Given the description of an element on the screen output the (x, y) to click on. 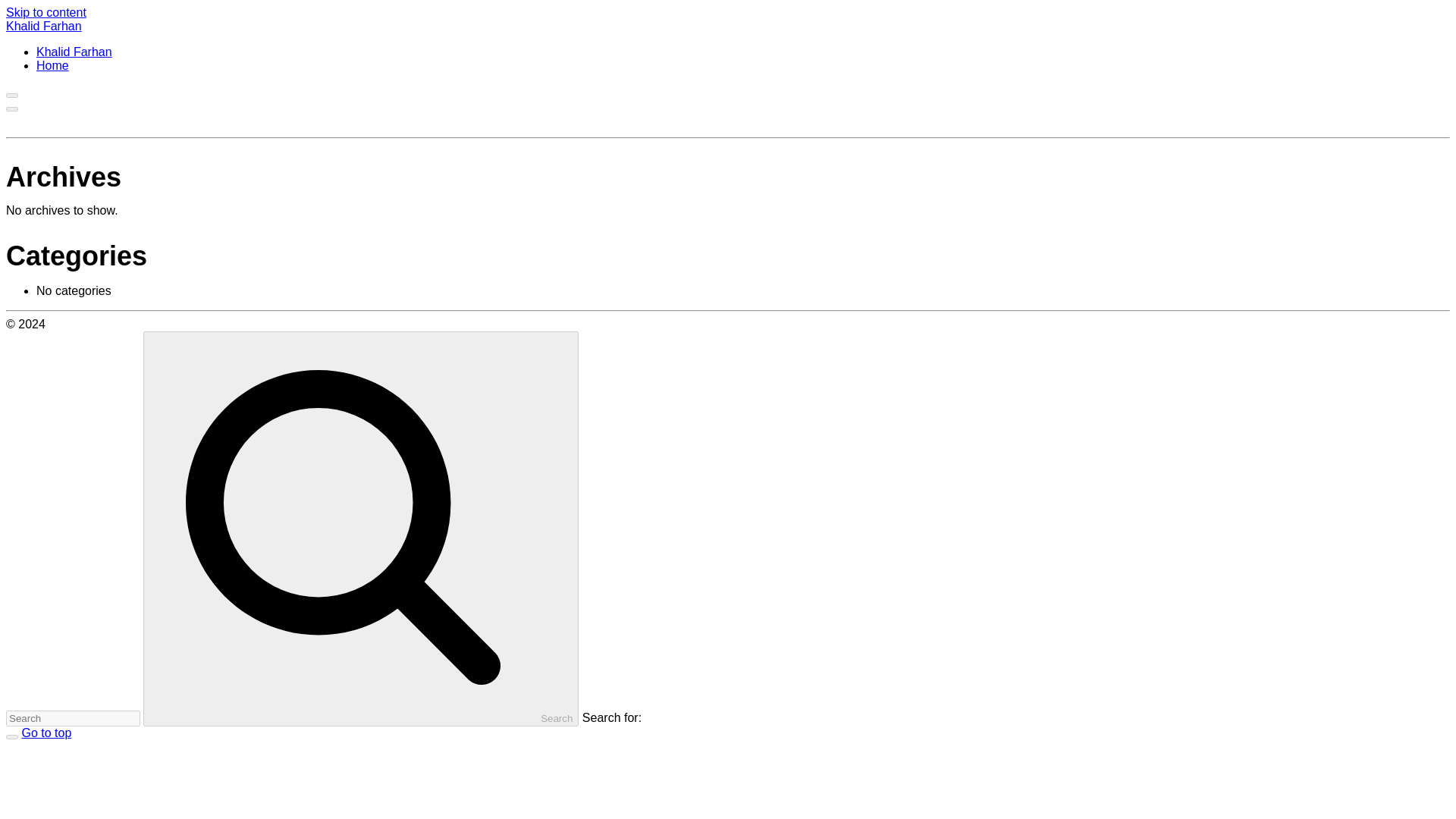
Khalid Farhan (43, 25)
Home (52, 65)
Skip to content (45, 11)
Khalid Farhan (74, 51)
